Given the description of an element on the screen output the (x, y) to click on. 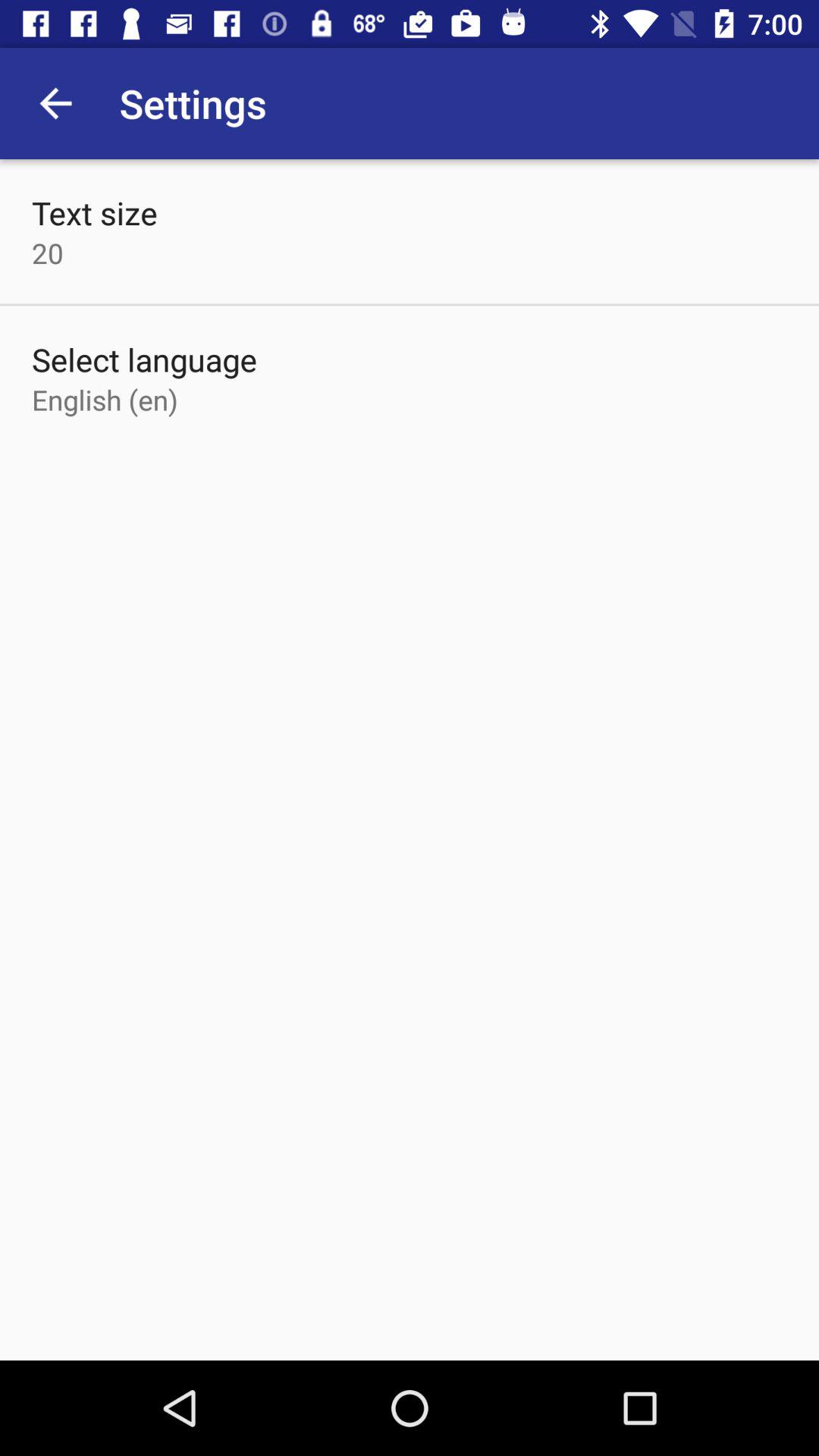
press text size icon (94, 212)
